Given the description of an element on the screen output the (x, y) to click on. 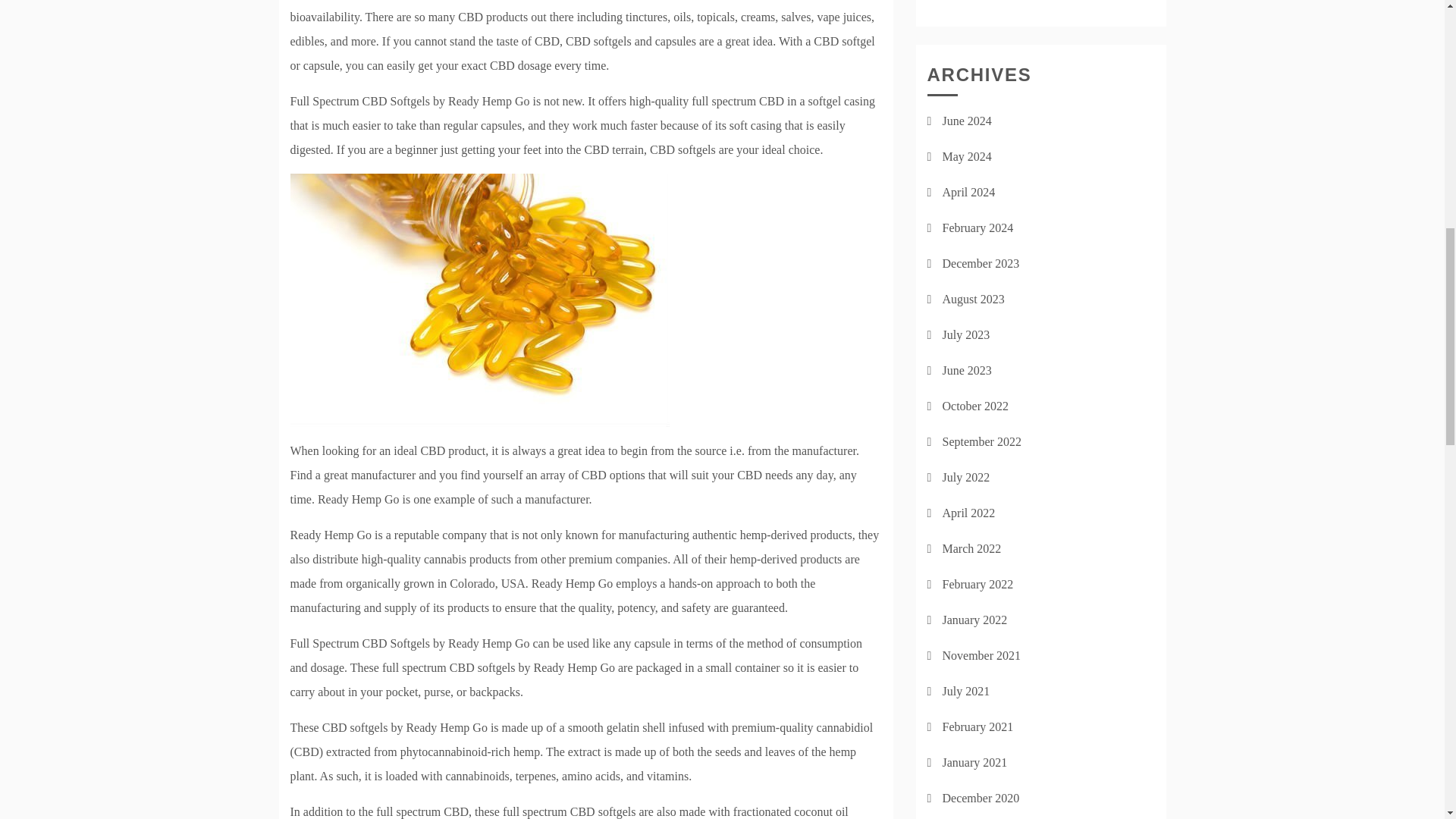
October 2022 (975, 405)
February 2024 (977, 227)
June 2024 (966, 120)
March 2022 (971, 548)
July 2023 (966, 334)
July 2022 (966, 477)
May 2024 (966, 155)
April 2022 (968, 512)
June 2023 (966, 369)
August 2023 (973, 298)
December 2023 (980, 263)
April 2024 (968, 192)
September 2022 (981, 440)
